Given the description of an element on the screen output the (x, y) to click on. 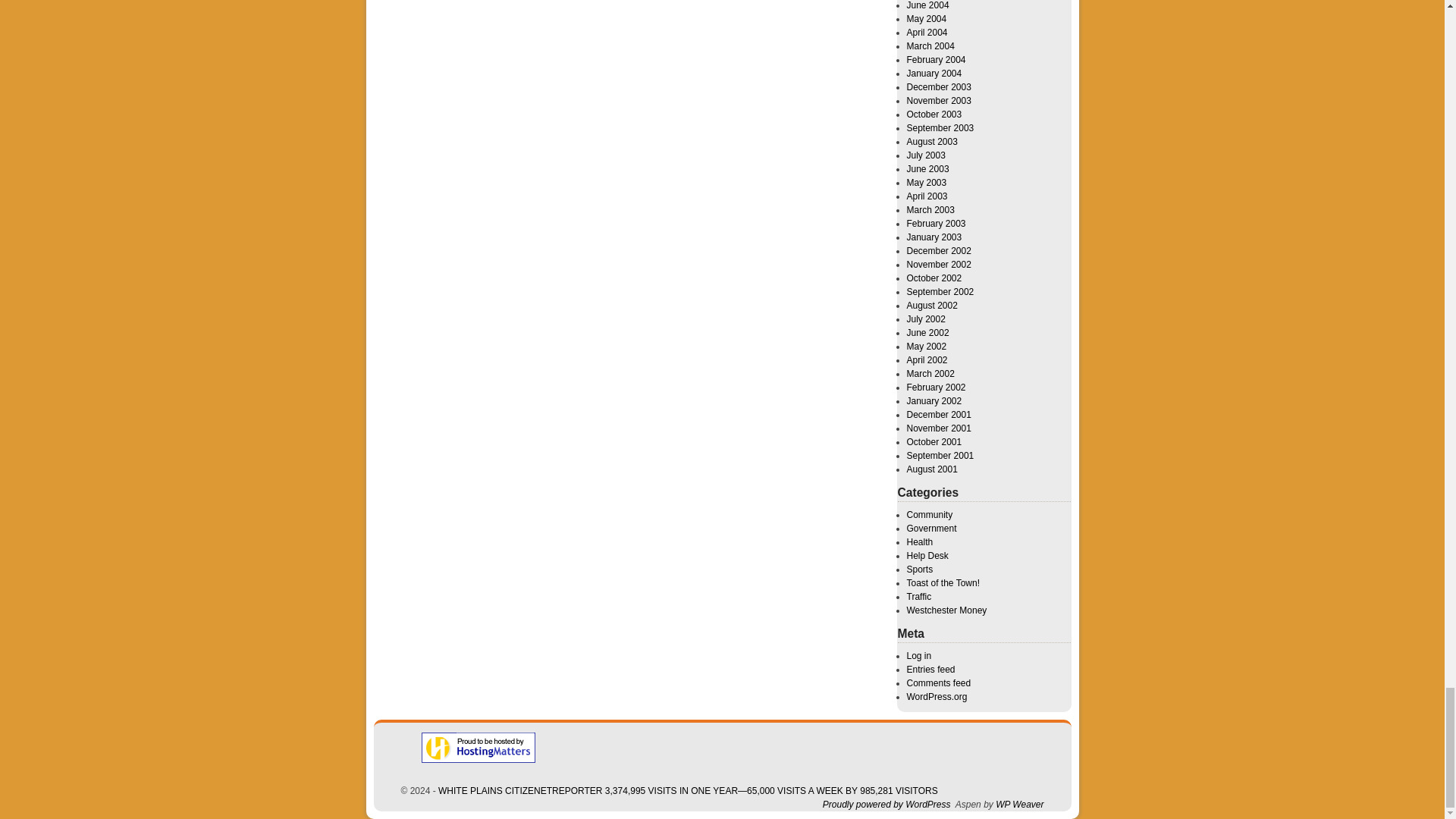
wordpress.org (886, 804)
